Given the description of an element on the screen output the (x, y) to click on. 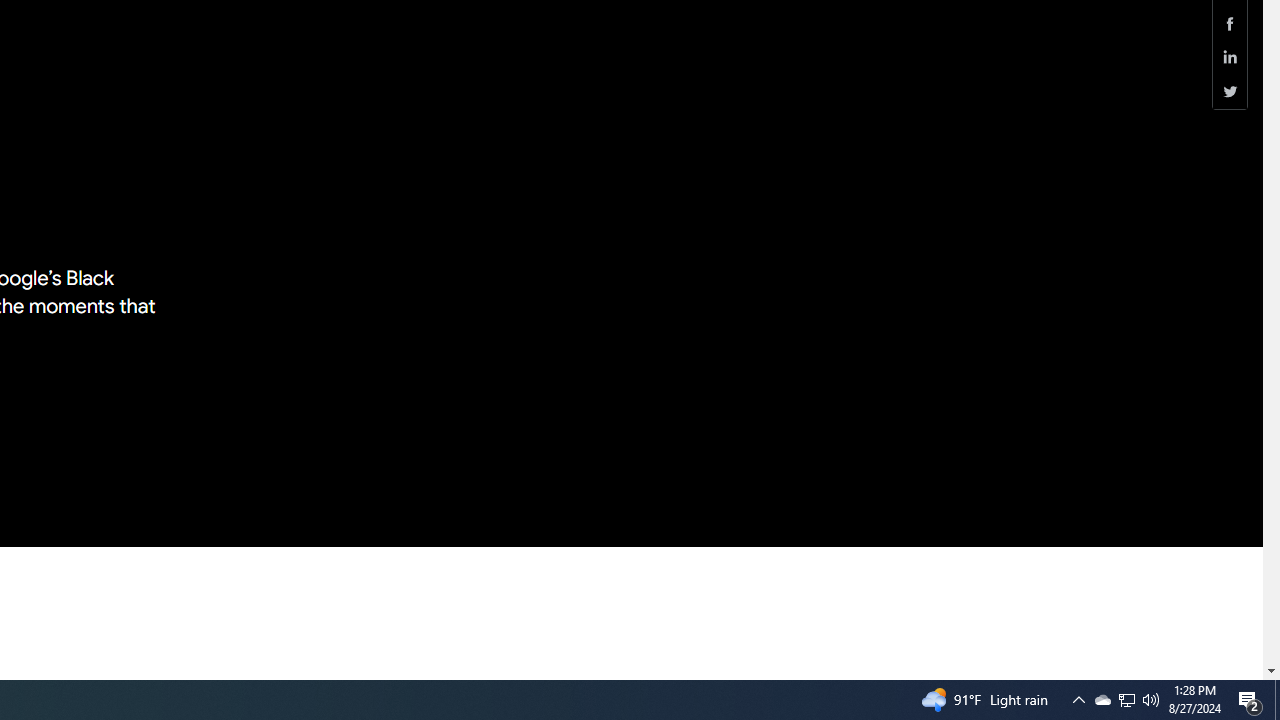
Share this page (LinkedIn) (1230, 57)
Share this page (Twitter) (1230, 91)
Share this page (Facebook) (1230, 23)
